Given the description of an element on the screen output the (x, y) to click on. 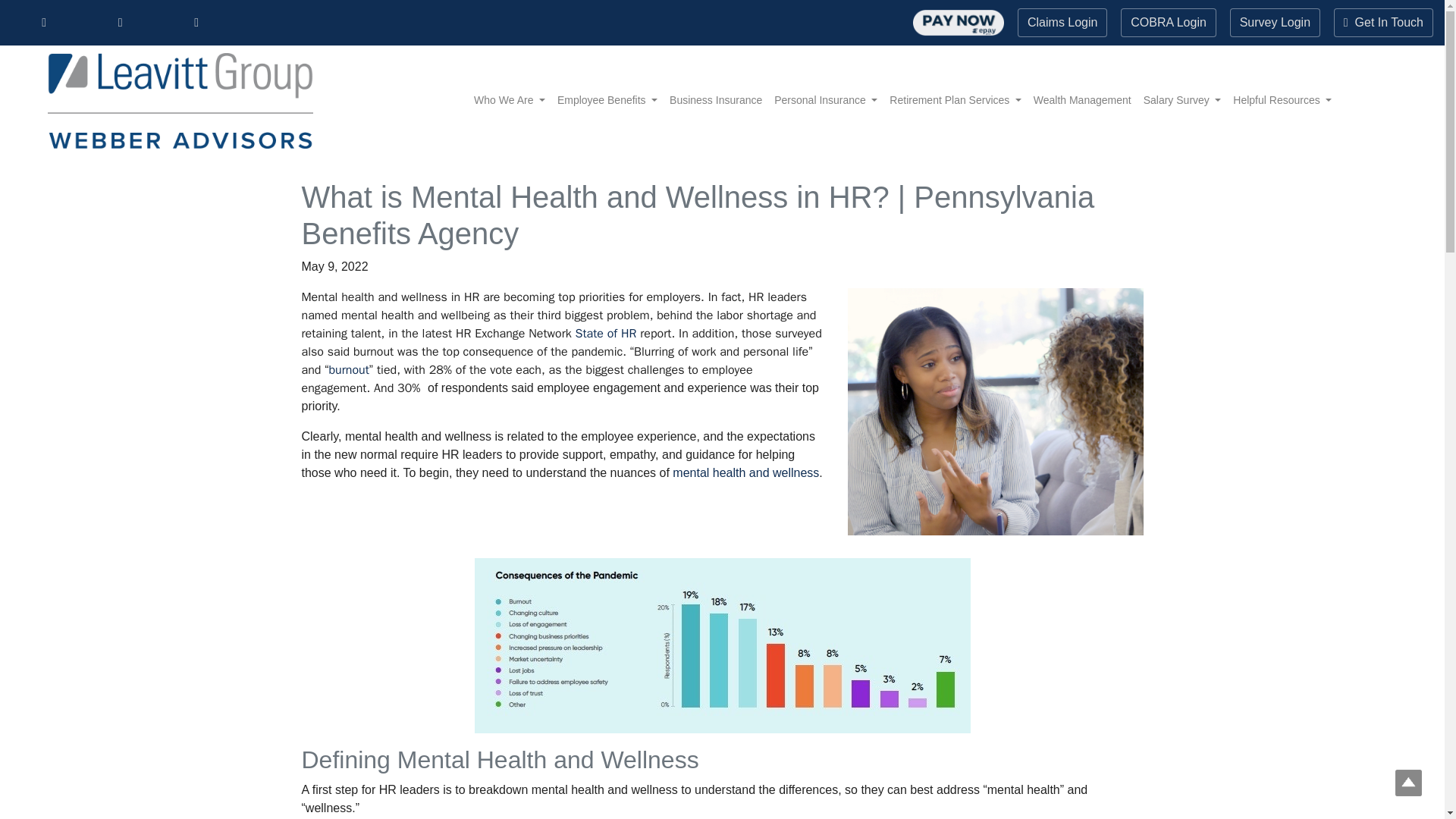
Survey Login (1275, 22)
Personal Insurance (825, 100)
Claims Login (1061, 22)
Salary Survey (1182, 100)
Helpful Resources (1282, 100)
Scroll to Top (1408, 782)
Employee Benefits (607, 100)
Retirement Plan Services (954, 100)
mental health and wellness (745, 472)
Business Insurance (715, 100)
Who We Are (509, 100)
COBRA Login (1168, 22)
Wealth Management (1082, 100)
State of HR (606, 333)
  Get In Touch (1382, 22)
